Given the description of an element on the screen output the (x, y) to click on. 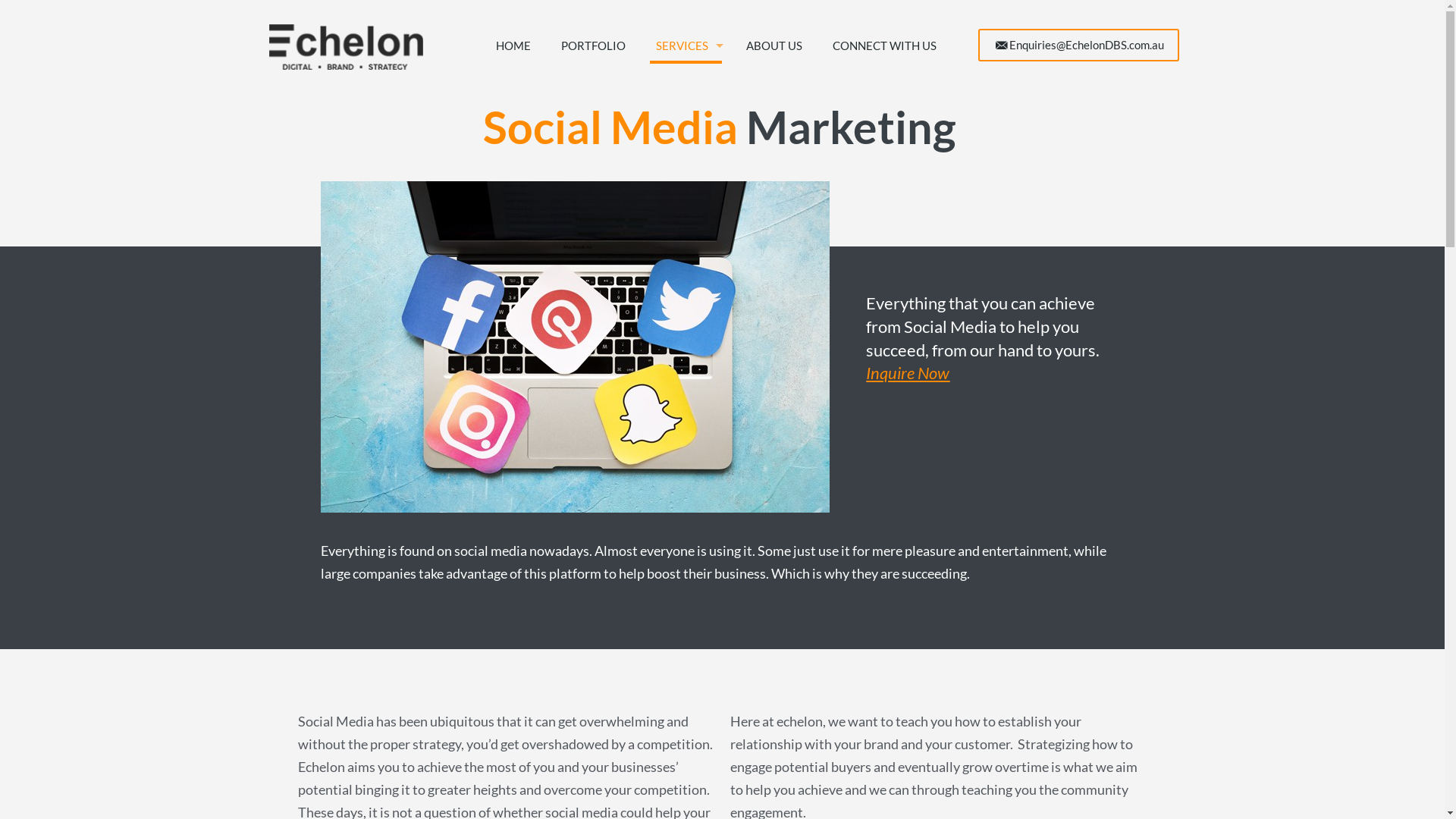
PORTFOLIO Element type: text (593, 45)
Echelon Element type: hover (346, 45)
SERVICES Element type: text (685, 45)
ABOUT US Element type: text (774, 45)
Enquiries@EchelonDBS.com.au Element type: text (1078, 44)
CONNECT WITH US Element type: text (884, 45)
HOME Element type: text (513, 45)
